Given the description of an element on the screen output the (x, y) to click on. 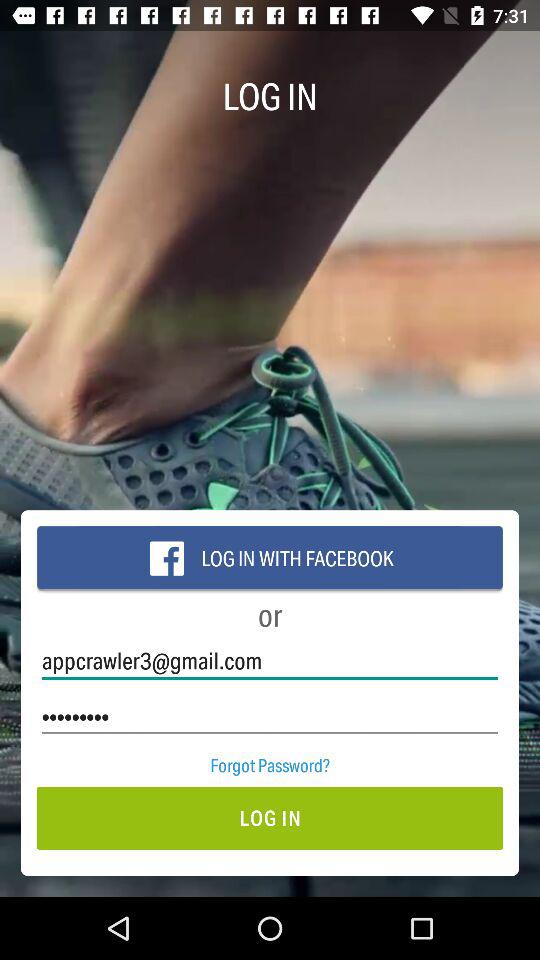
swipe to the forgot password? item (269, 764)
